Given the description of an element on the screen output the (x, y) to click on. 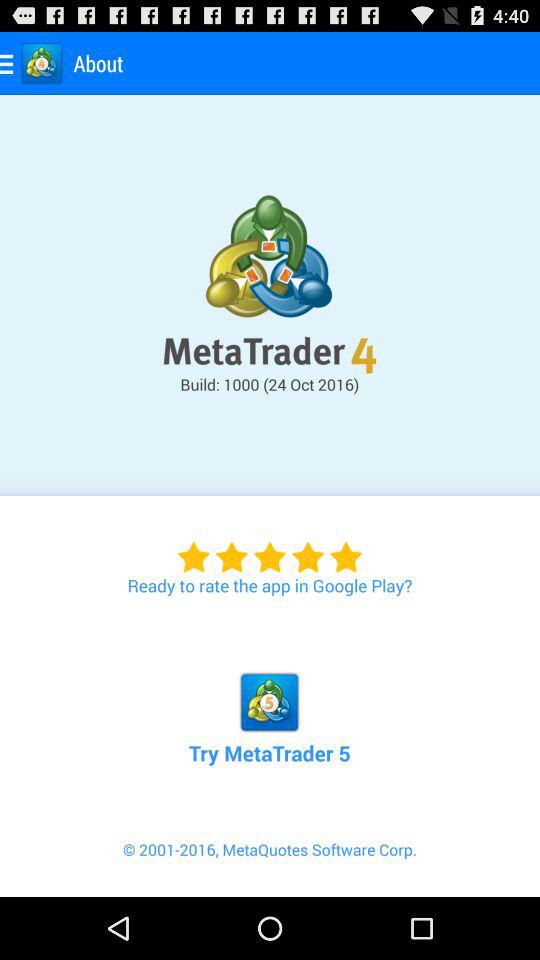
scroll to 2001 2016 metaquotes (269, 867)
